Given the description of an element on the screen output the (x, y) to click on. 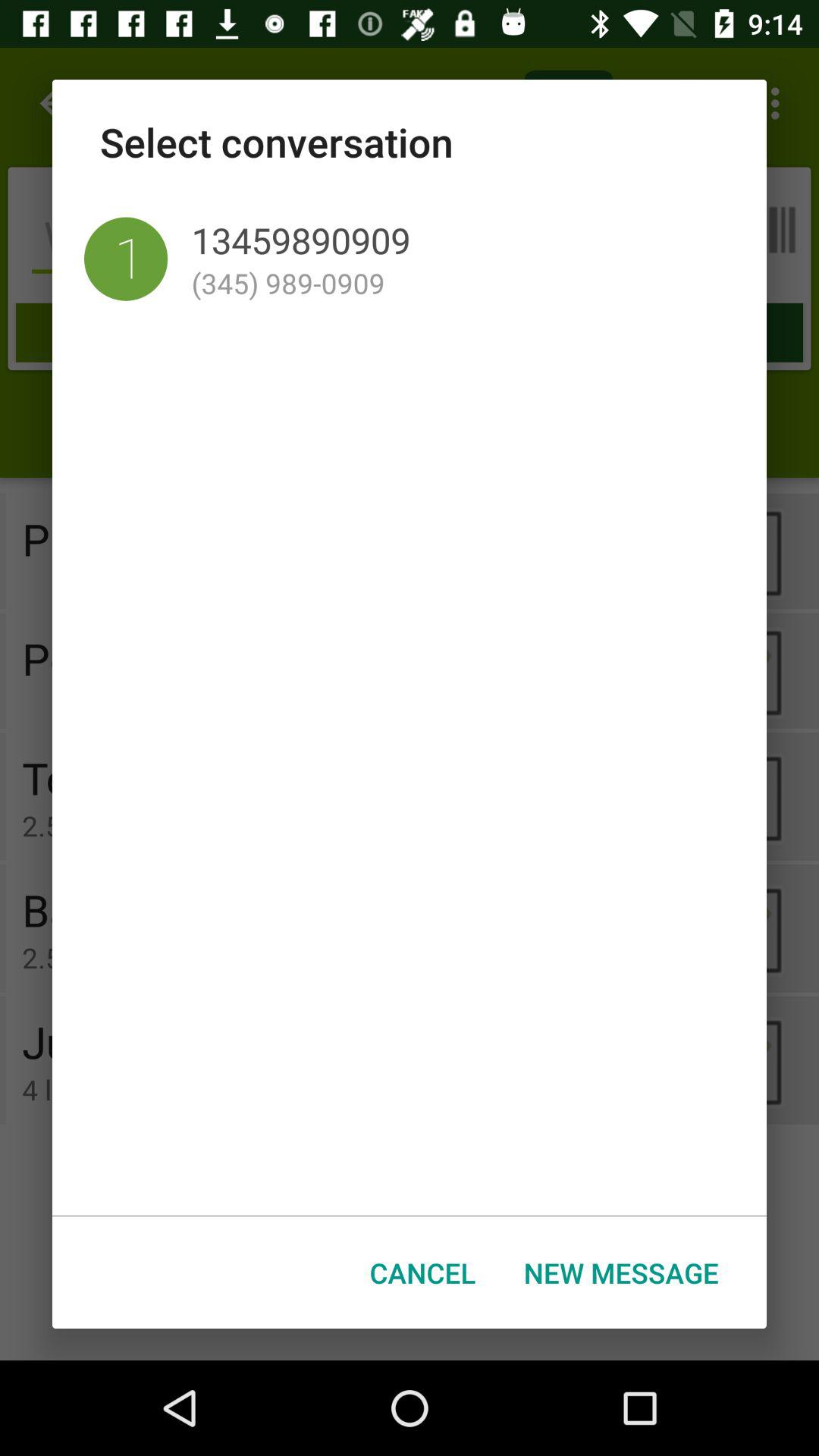
click button at the bottom right corner (620, 1272)
